Given the description of an element on the screen output the (x, y) to click on. 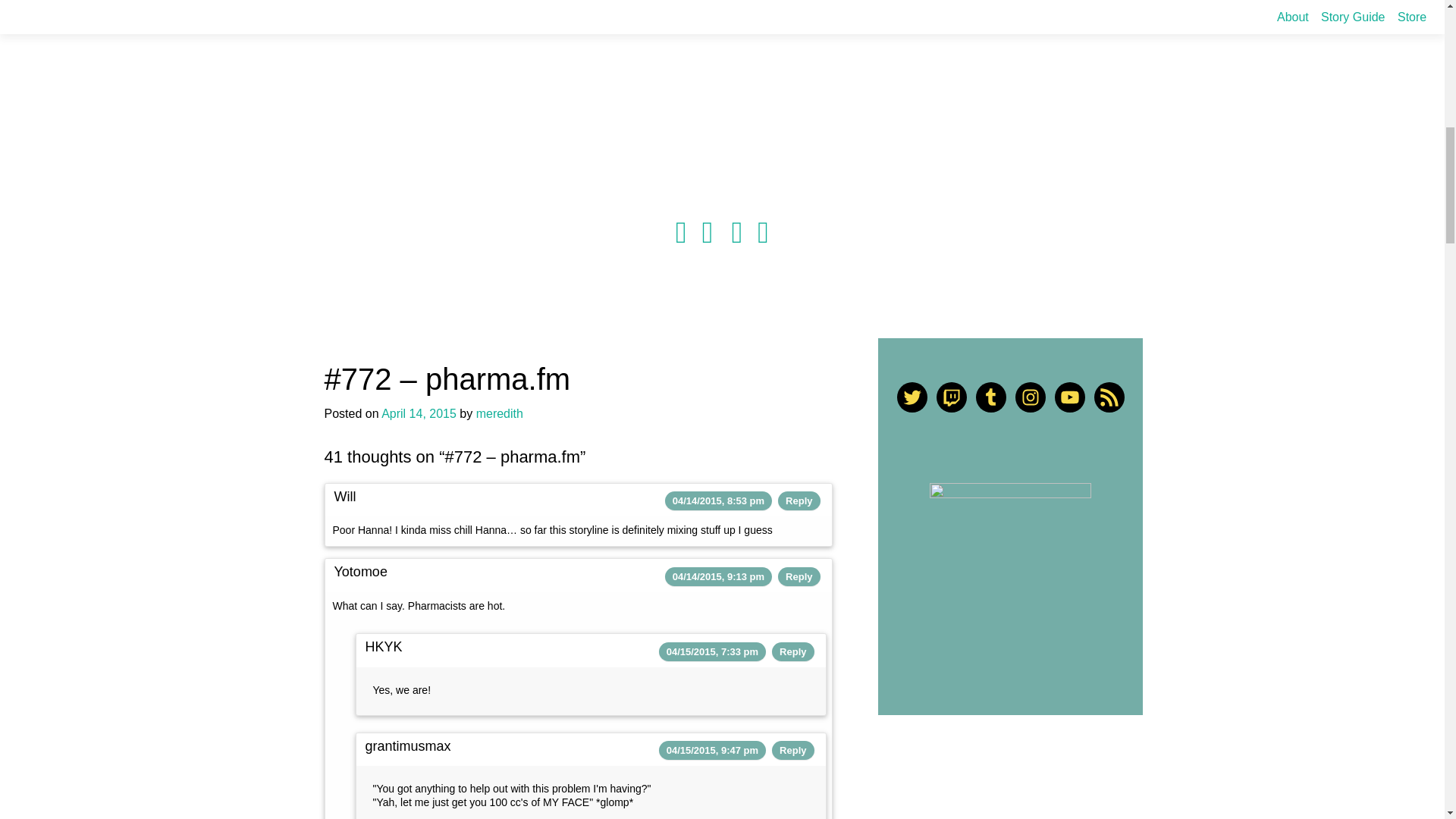
Reply (799, 500)
meredith (499, 413)
April 14, 2015 (419, 413)
Reply (799, 576)
Reply (792, 651)
Reply (792, 749)
Perfect Tides: Station to Station - Demo Out NOW! (762, 232)
